Given the description of an element on the screen output the (x, y) to click on. 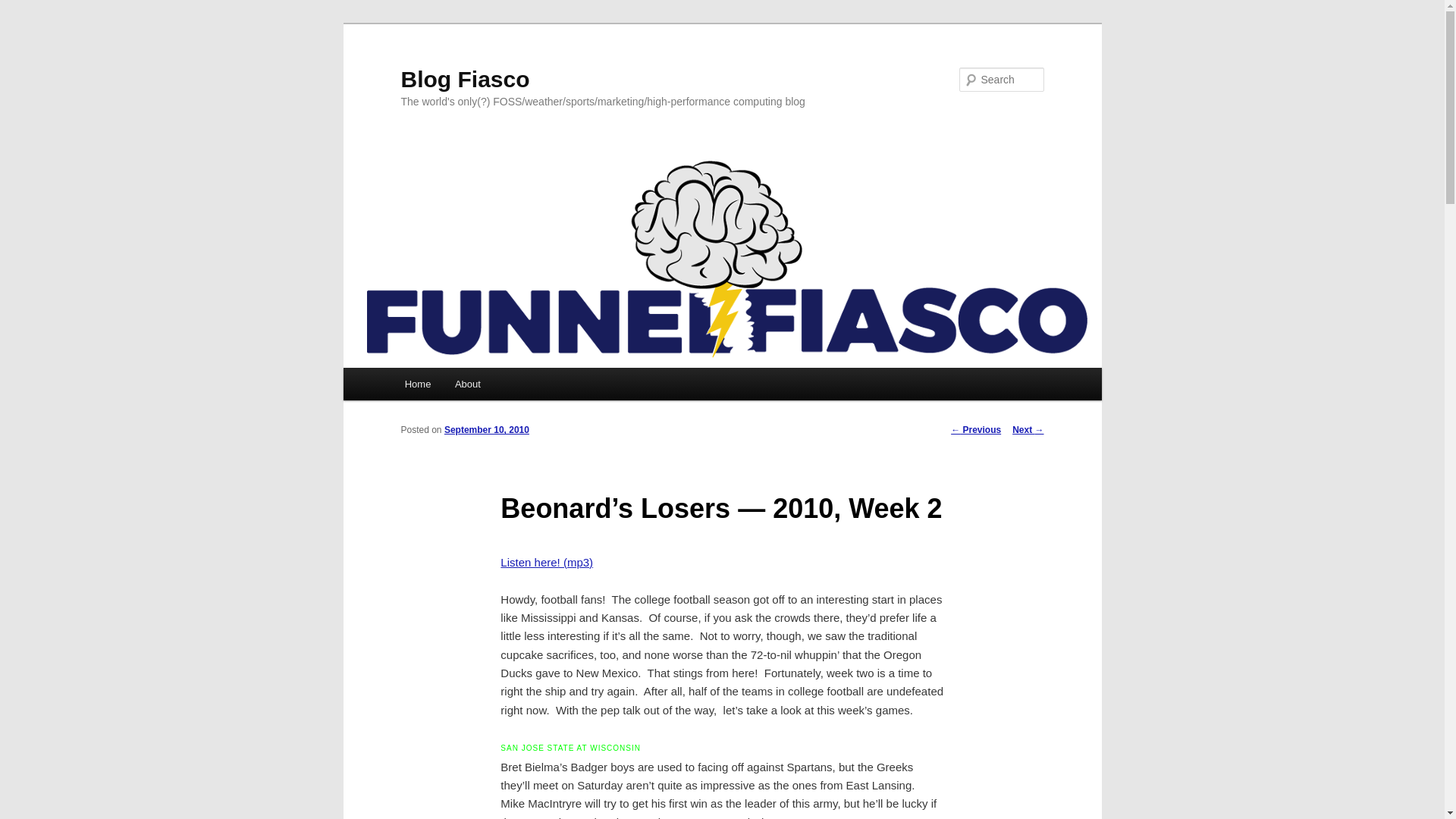
Search (24, 8)
11:58 am (486, 429)
September 10, 2010 (486, 429)
About (467, 383)
Blog Fiasco (464, 78)
Home (417, 383)
